Given the description of an element on the screen output the (x, y) to click on. 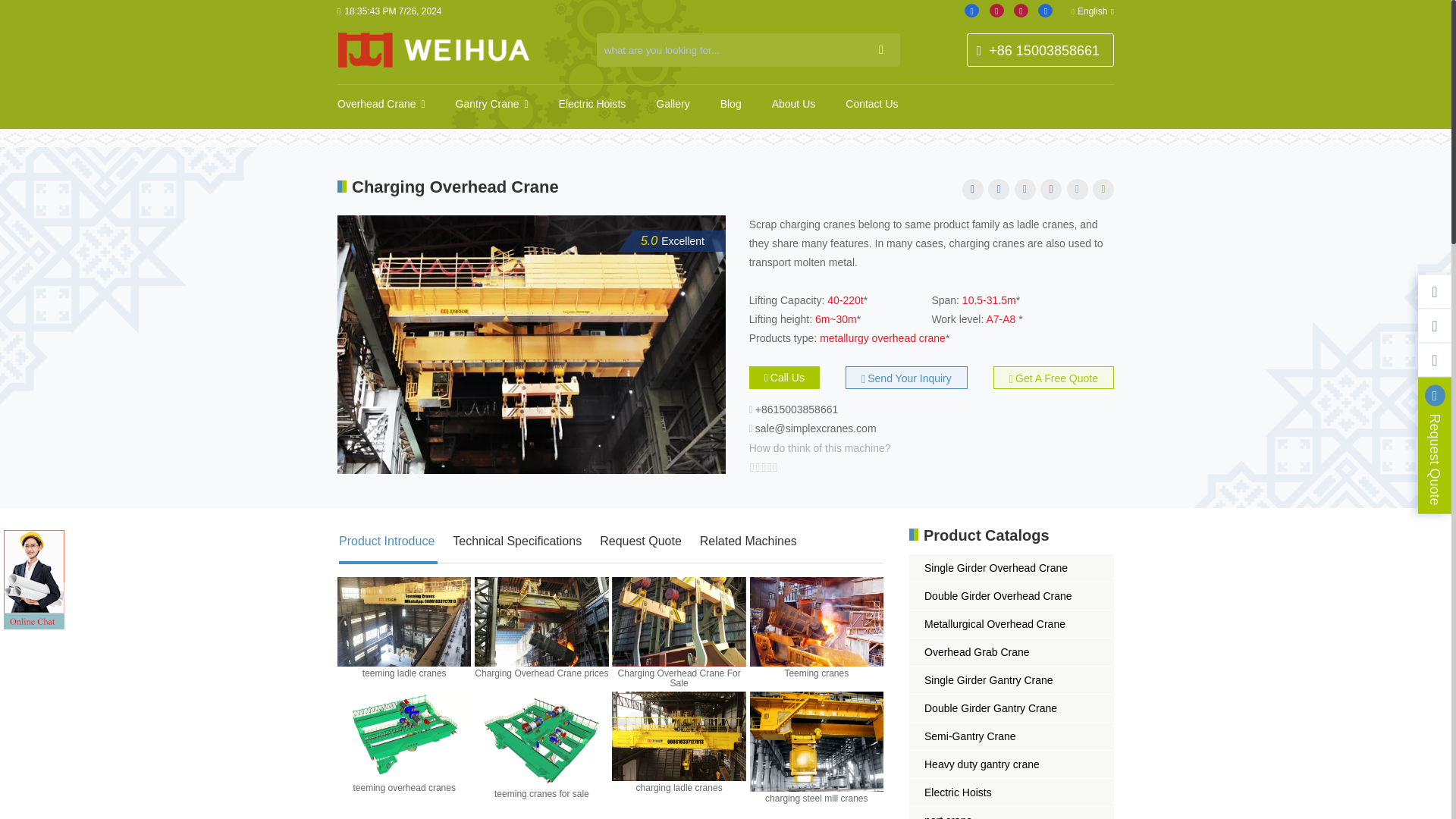
Telegram (1076, 189)
Whatsapp (1103, 189)
Viber (1051, 189)
Overhead Crane (376, 103)
linkedin (998, 189)
facebook (971, 189)
